Given the description of an element on the screen output the (x, y) to click on. 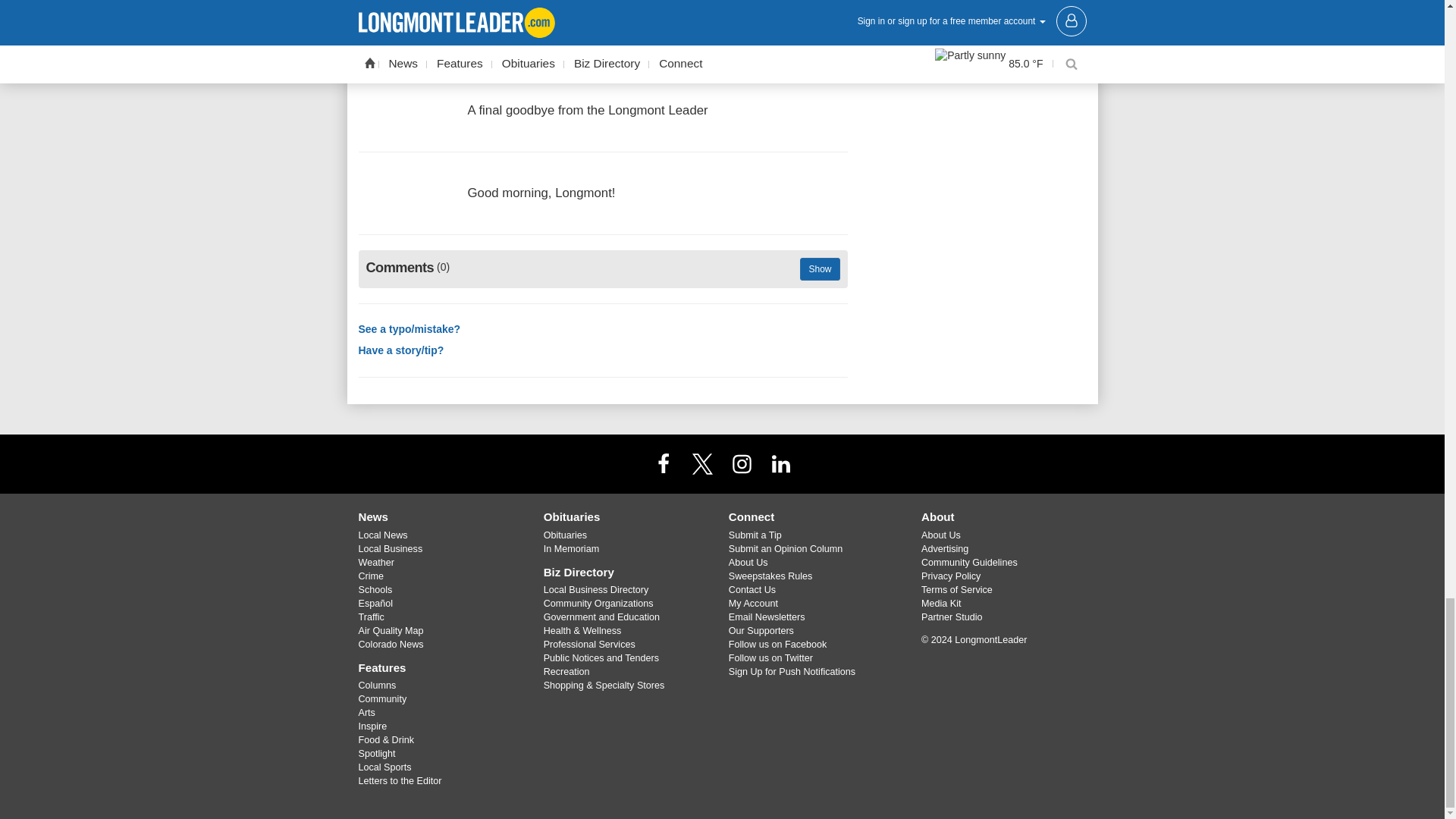
LinkedIn (780, 463)
Facebook (663, 463)
Instagram (741, 463)
X (702, 463)
